Given the description of an element on the screen output the (x, y) to click on. 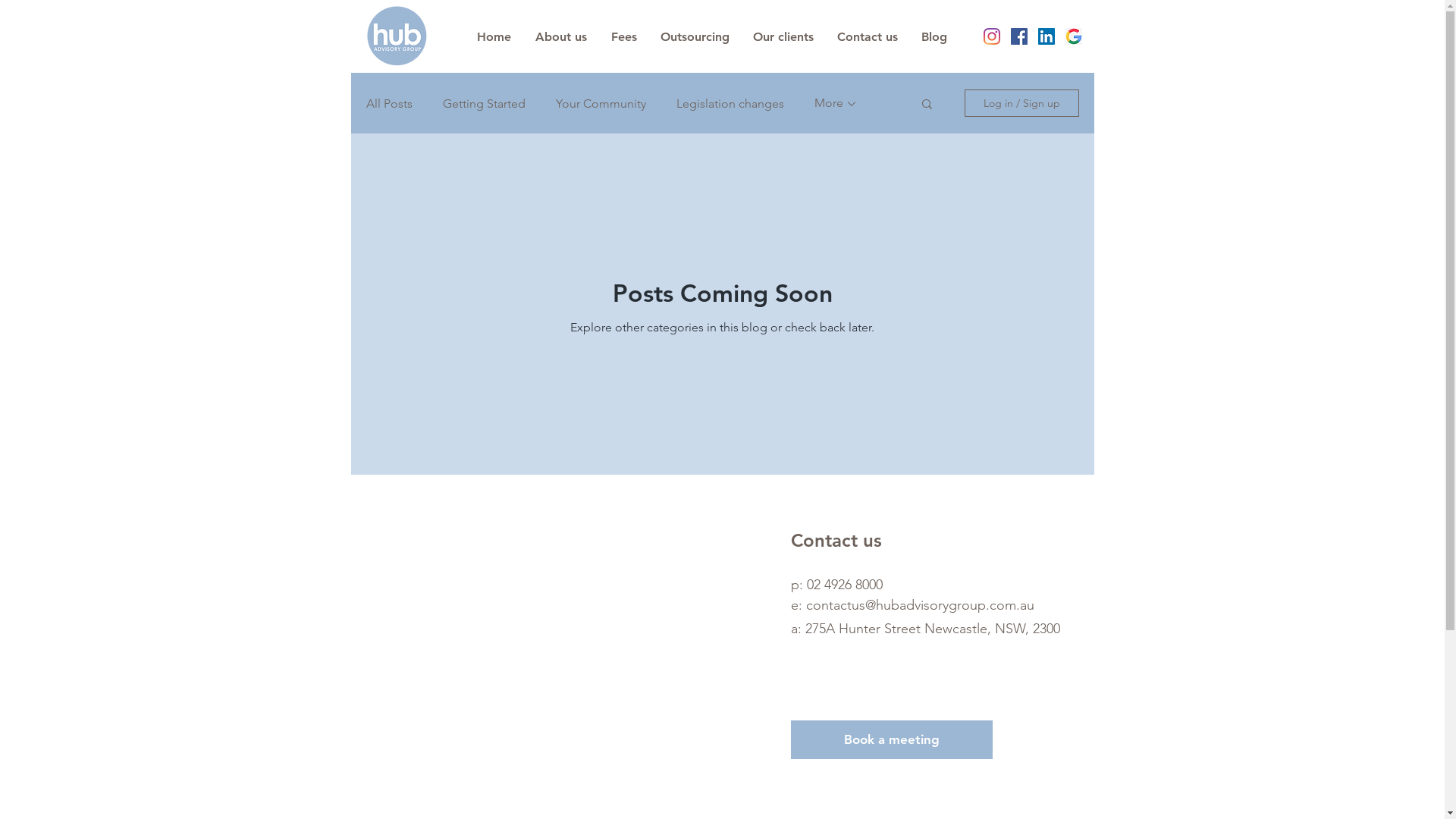
Google Maps Element type: hover (569, 645)
Contact us Element type: text (867, 37)
Blog Element type: text (934, 37)
Our clients Element type: text (783, 37)
Log in / Sign up Element type: text (1021, 102)
Newcastle, NSW, 2300 Element type: text (991, 628)
Book a meeting Element type: text (890, 739)
a: 275A Hunter Street  Element type: text (856, 628)
All Posts Element type: text (388, 102)
Your Community Element type: text (600, 102)
Getting Started Element type: text (483, 102)
p: 02 4926 8000 Element type: text (835, 584)
About us Element type: text (561, 37)
Legislation changes Element type: text (730, 102)
Home Element type: text (493, 37)
Outsourcing Element type: text (695, 37)
Fees Element type: text (624, 37)
e: contactus@hubadvisorygroup.com.au Element type: text (911, 604)
